Given the description of an element on the screen output the (x, y) to click on. 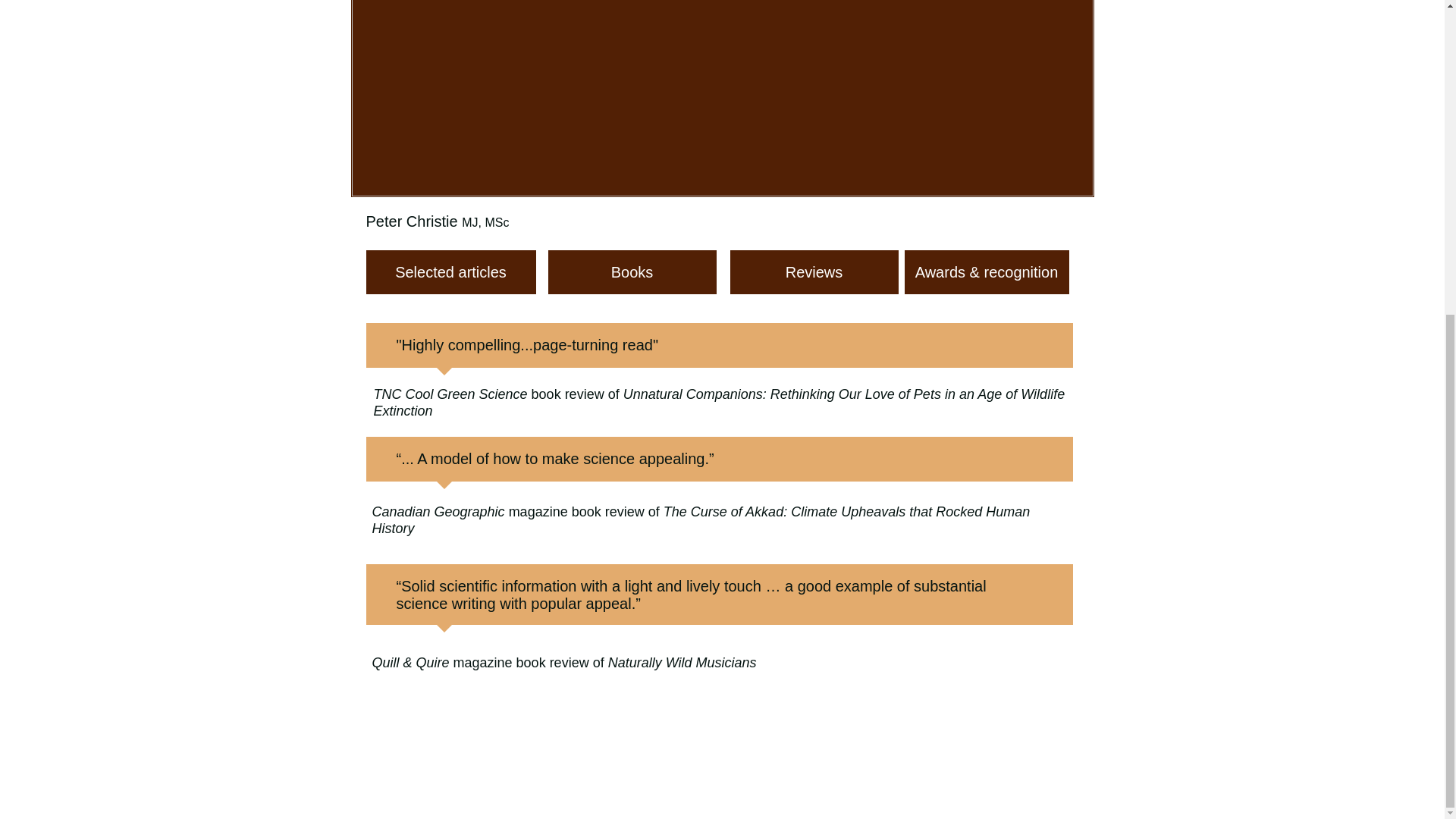
Reviews (813, 272)
Books (631, 272)
Selected articles (450, 272)
